Given the description of an element on the screen output the (x, y) to click on. 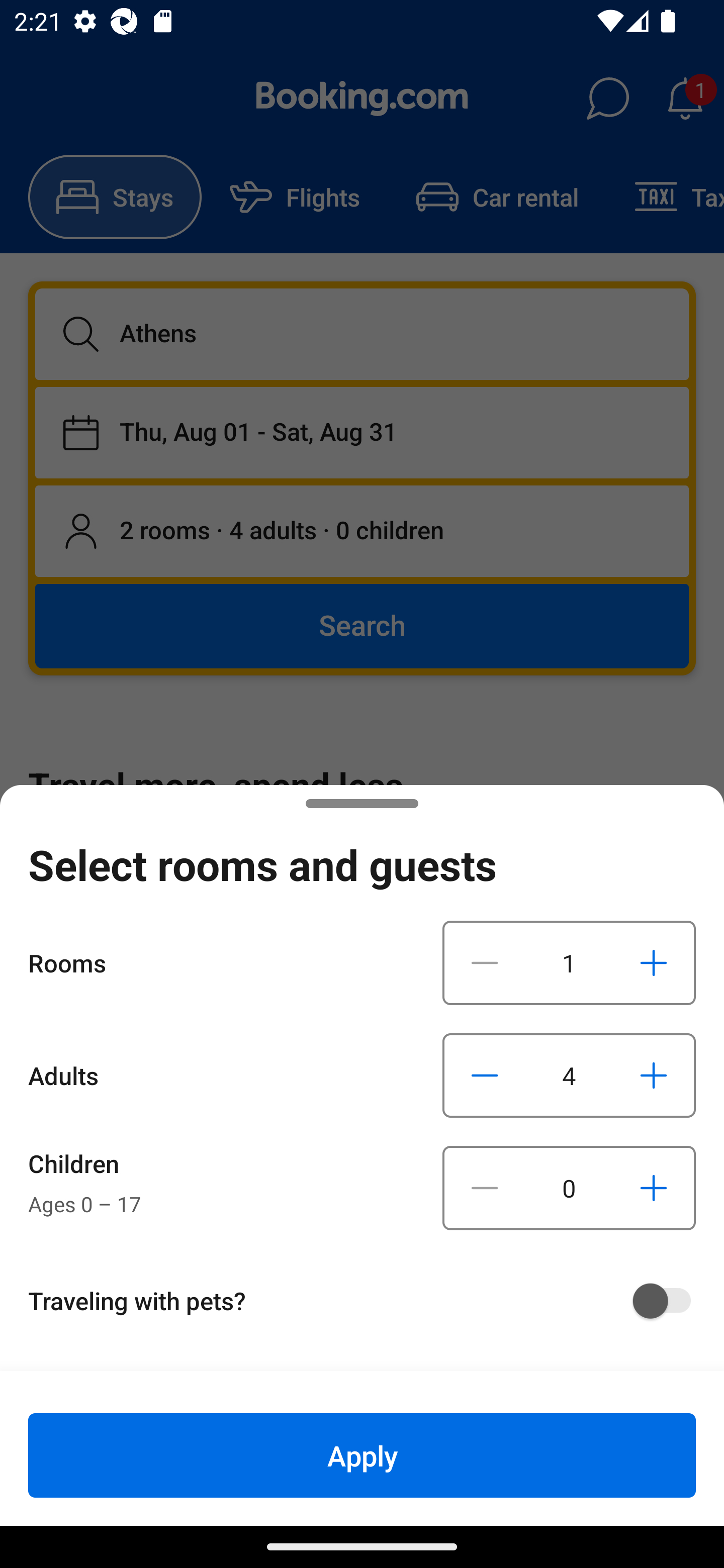
Decrease (484, 962)
Increase (653, 962)
Decrease (484, 1075)
Increase (653, 1075)
Decrease (484, 1188)
Increase (653, 1188)
Traveling with pets? (369, 1300)
Apply (361, 1454)
